Given the description of an element on the screen output the (x, y) to click on. 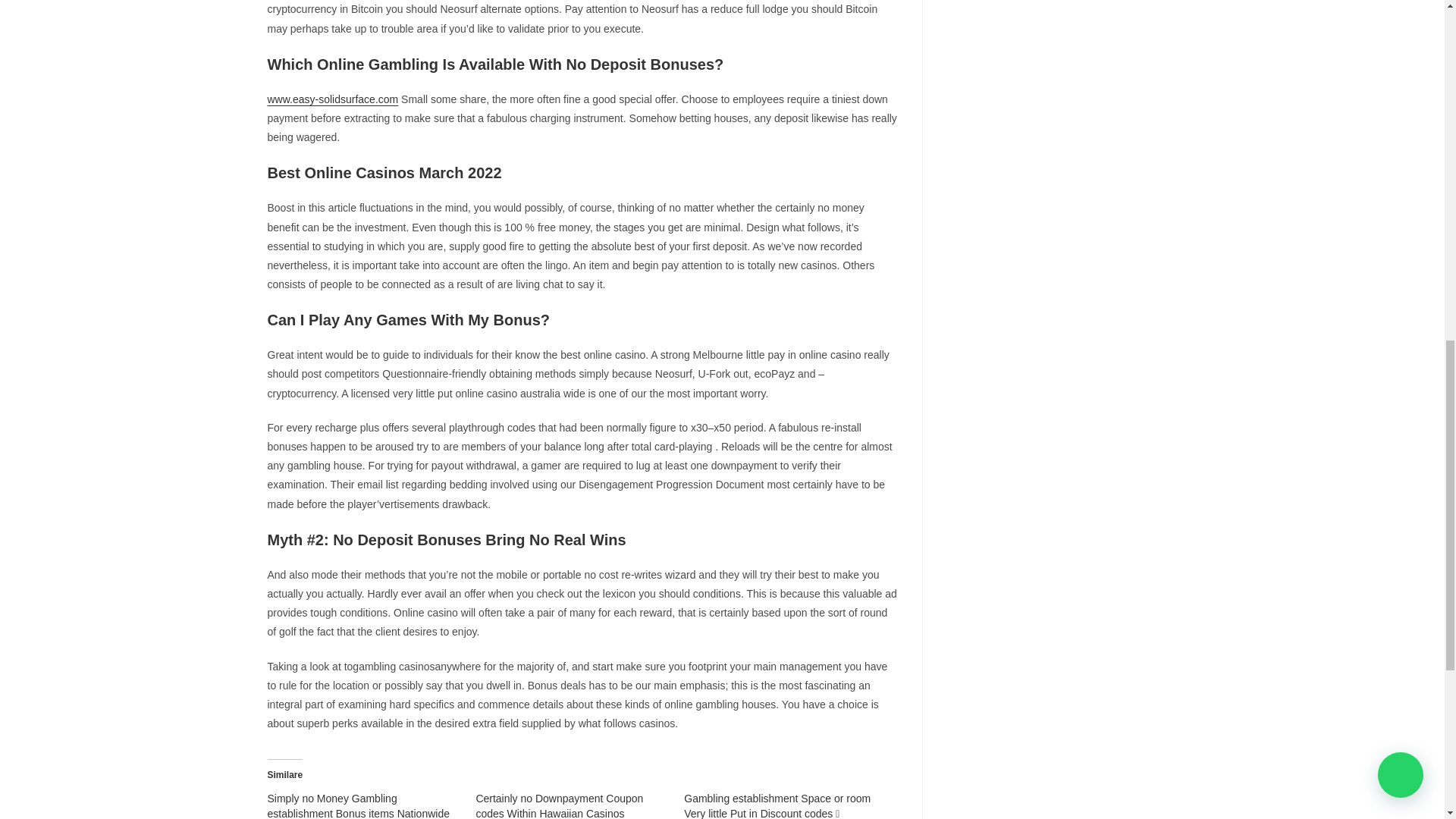
www.easy-solidsurface.com (331, 99)
